Given the description of an element on the screen output the (x, y) to click on. 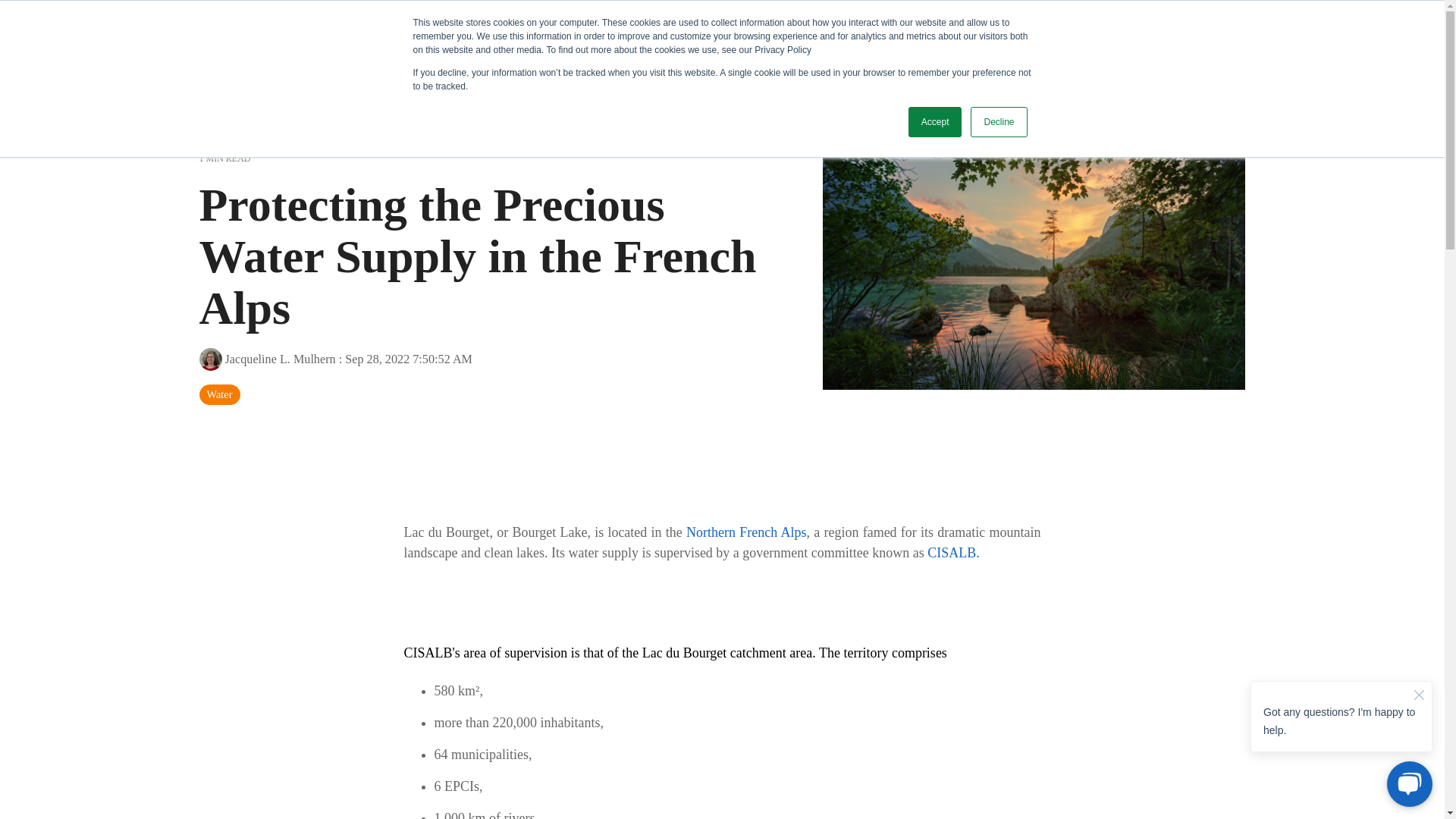
Testimonials (424, 36)
Accept (935, 122)
Solutions (338, 36)
About (496, 36)
Ayyeka logo (105, 36)
Book a demo (624, 36)
Decline (998, 122)
Support (550, 36)
Our Offer (259, 36)
